Given the description of an element on the screen output the (x, y) to click on. 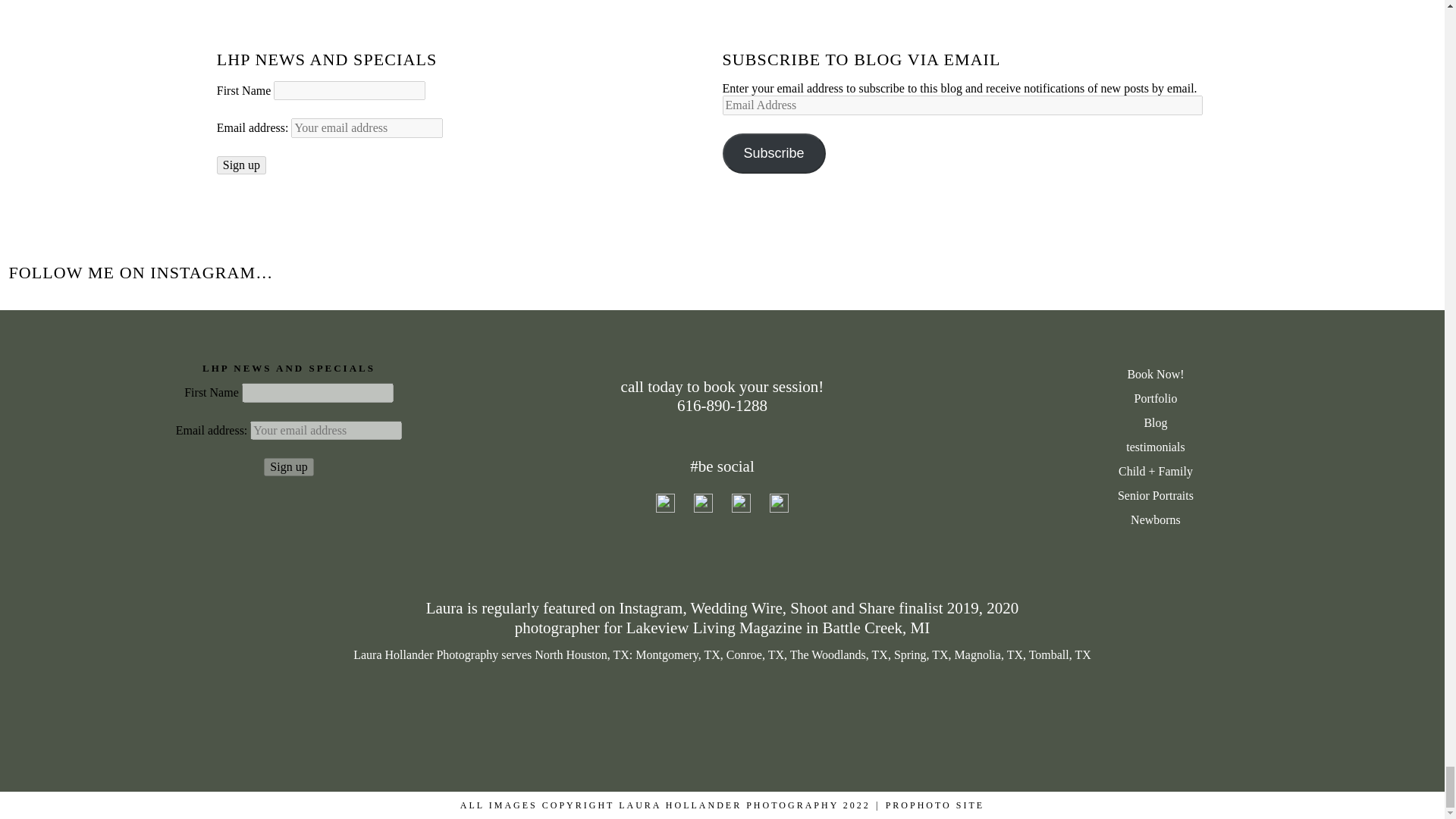
ProPhoto Blog Template (934, 805)
testimonials (1155, 446)
Book Now! (1155, 374)
Sign up (288, 466)
Senior Portraits (1155, 495)
Sign up (241, 165)
Subscribe (773, 153)
Blog (1155, 422)
Sign up (241, 165)
Portfolio (1155, 398)
